Given the description of an element on the screen output the (x, y) to click on. 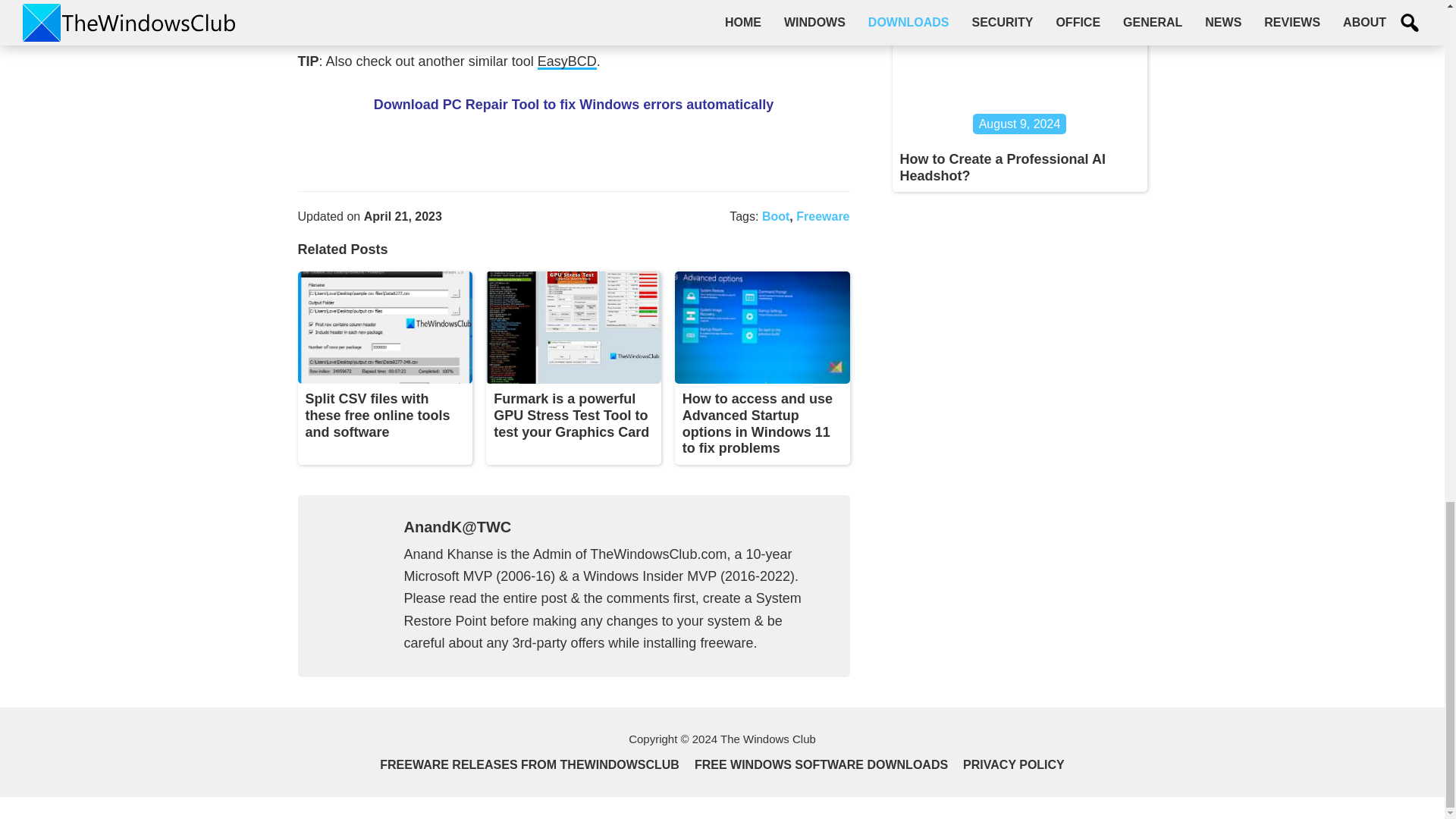
Boot (775, 215)
Split CSV files with these free online tools and software (376, 414)
Freeware (822, 215)
EasyBCD (566, 61)
Download PC Repair Tool to fix Windows errors automatically (574, 104)
EasyBCD (566, 61)
